Given the description of an element on the screen output the (x, y) to click on. 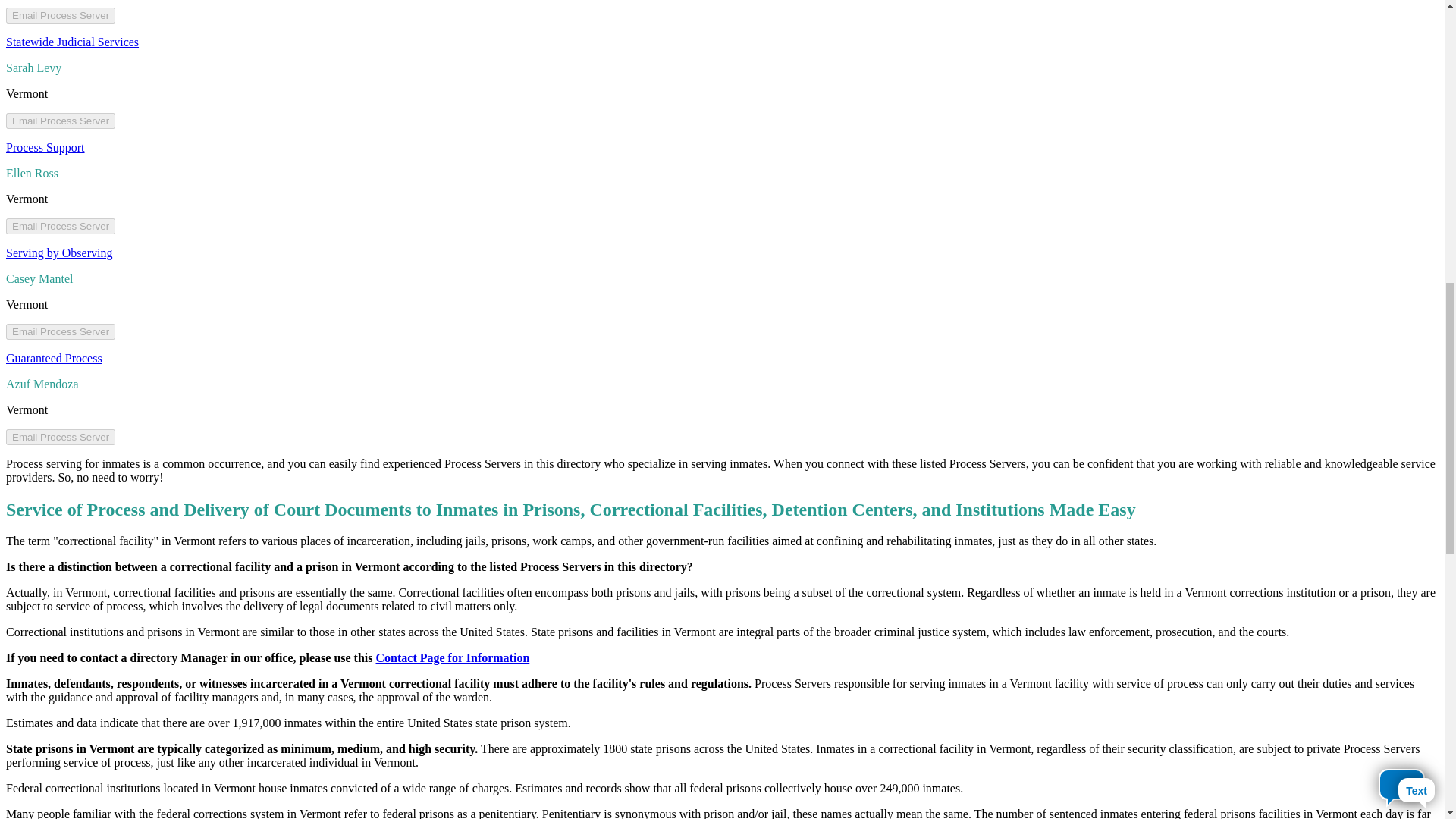
Serving by Observing (58, 252)
Email Process Server (60, 226)
Email Process Server (60, 15)
Email Process Server (60, 331)
Email Process Server (60, 437)
Statewide Judicial Services (71, 42)
Process Support (44, 146)
Contact Page for Information (452, 657)
Email Process Server (60, 120)
Guaranteed Process (53, 358)
